Given the description of an element on the screen output the (x, y) to click on. 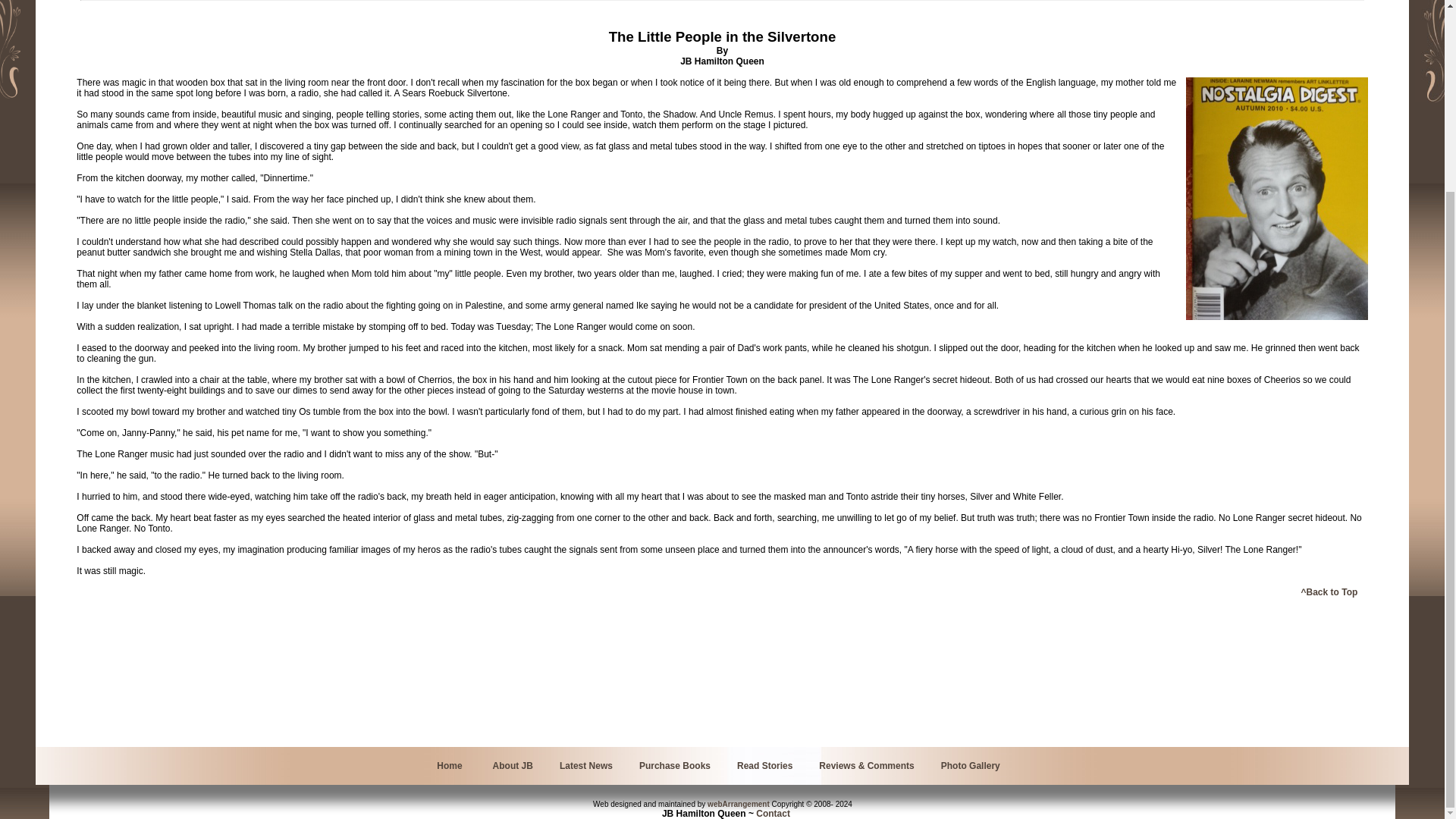
Purchase Books (674, 765)
webArrangement (738, 804)
Photo Gallery (970, 765)
About JB (512, 765)
Home (448, 765)
Latest News (585, 765)
Read Stories (764, 765)
